Given the description of an element on the screen output the (x, y) to click on. 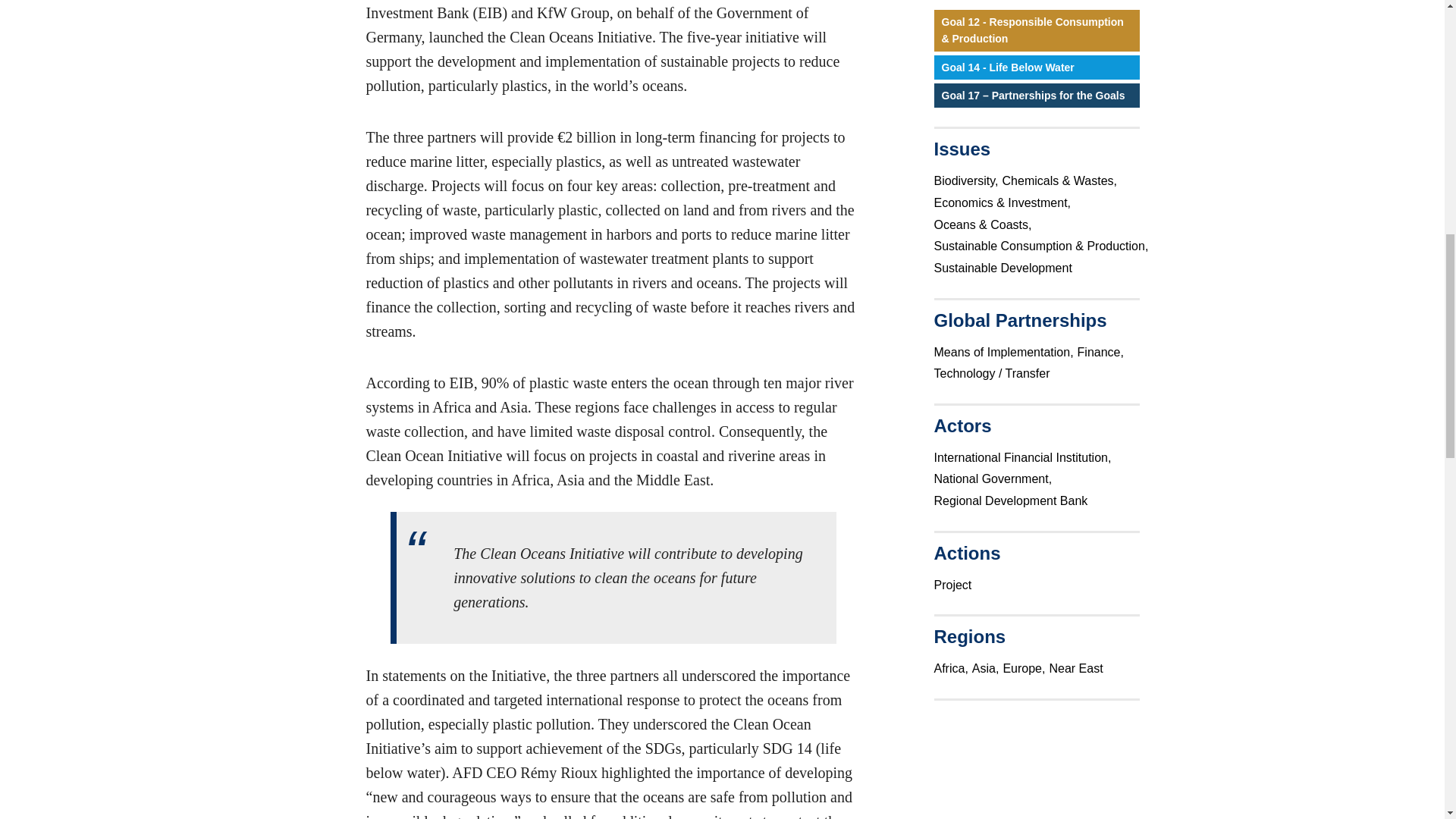
International Financial Institution, (1024, 457)
Biodiversity, (968, 180)
Regional Development Bank (1013, 500)
Finance, (1101, 351)
Sustainable Development (1004, 267)
Means of Implementation, (1005, 351)
National Government, (995, 478)
Goal 14 - Life Below Water (1037, 67)
